Given the description of an element on the screen output the (x, y) to click on. 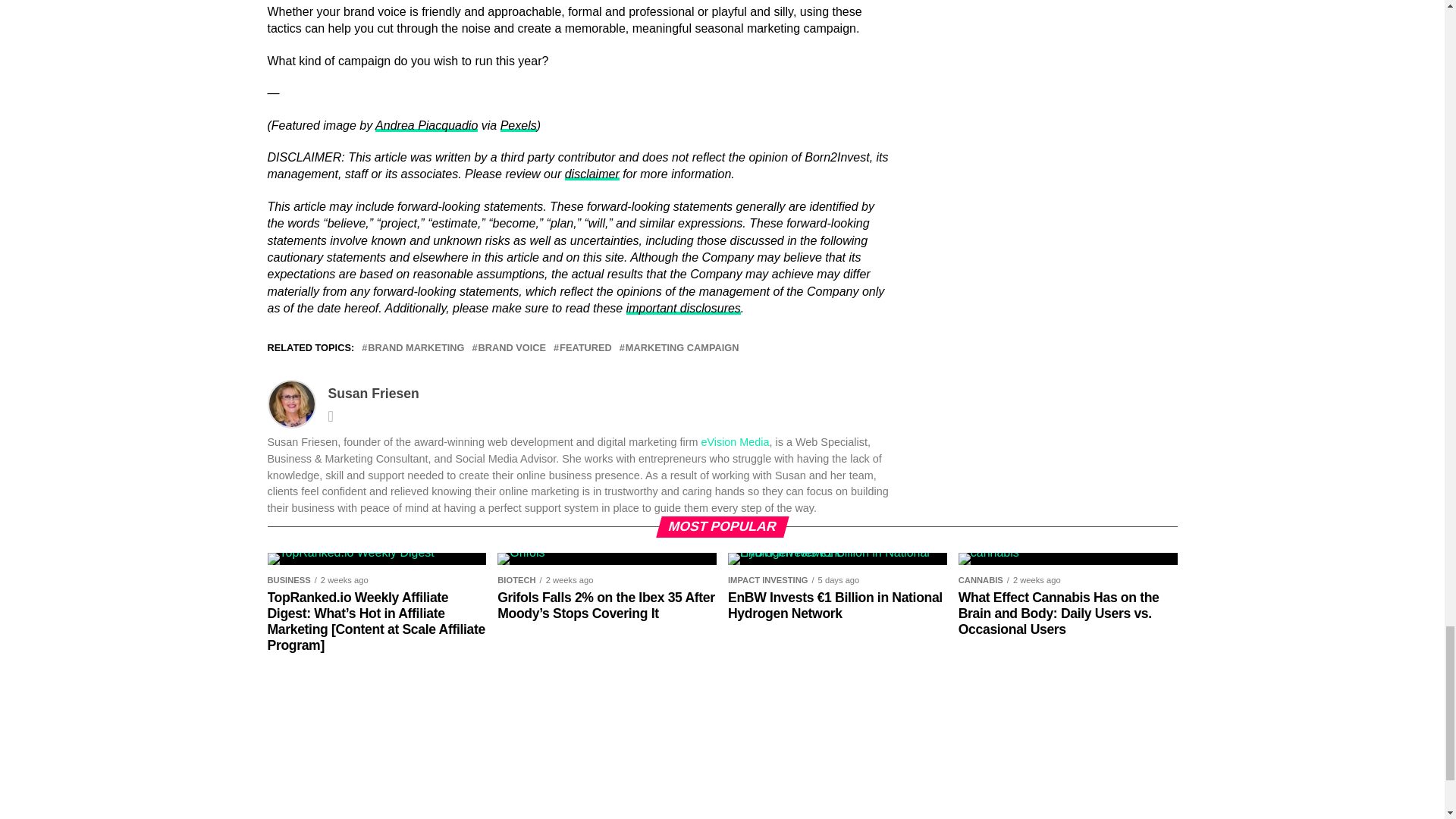
important disclosures (683, 308)
Andrea Piacquadio (426, 124)
Posts by Susan Friesen (373, 393)
BRAND MARKETING (416, 347)
Pexels (518, 124)
disclaimer (592, 173)
